Given the description of an element on the screen output the (x, y) to click on. 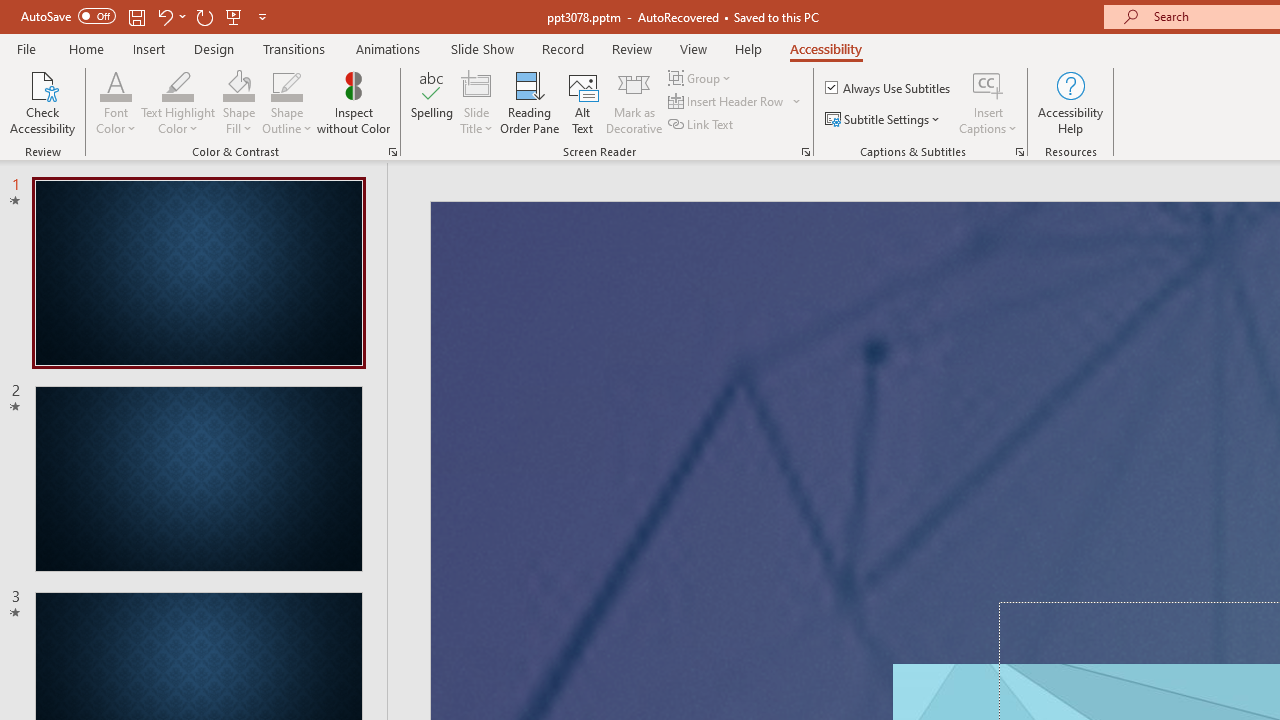
Link Text (702, 124)
Insert Captions (988, 102)
Shape Outline (286, 84)
Always Use Subtitles (889, 87)
Screen Reader (805, 151)
Insert Captions (988, 84)
Alt Text (582, 102)
